Given the description of an element on the screen output the (x, y) to click on. 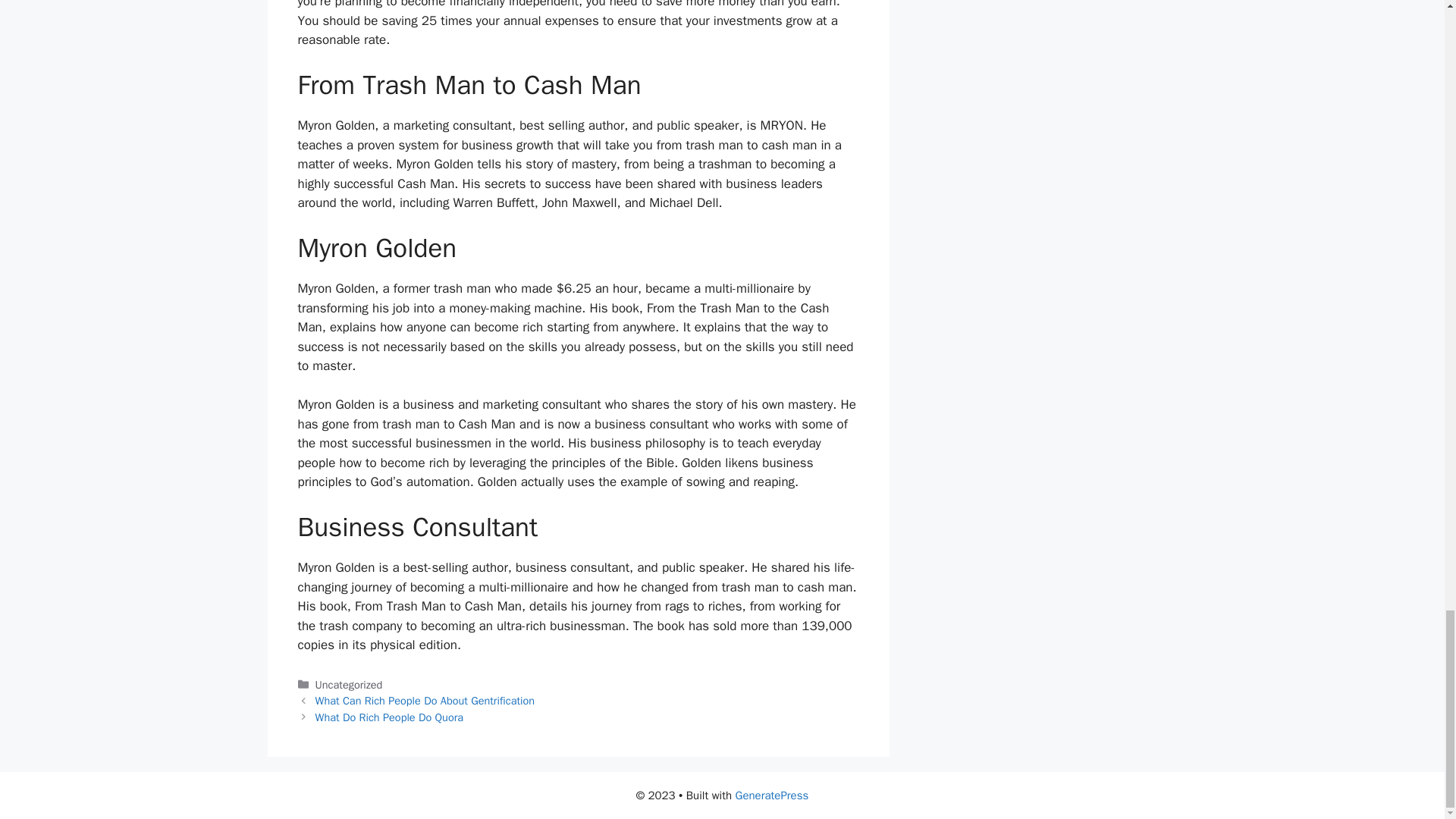
What Do Rich People Do Quora (389, 716)
GeneratePress (772, 795)
What Can Rich People Do About Gentrification (424, 700)
